Given the description of an element on the screen output the (x, y) to click on. 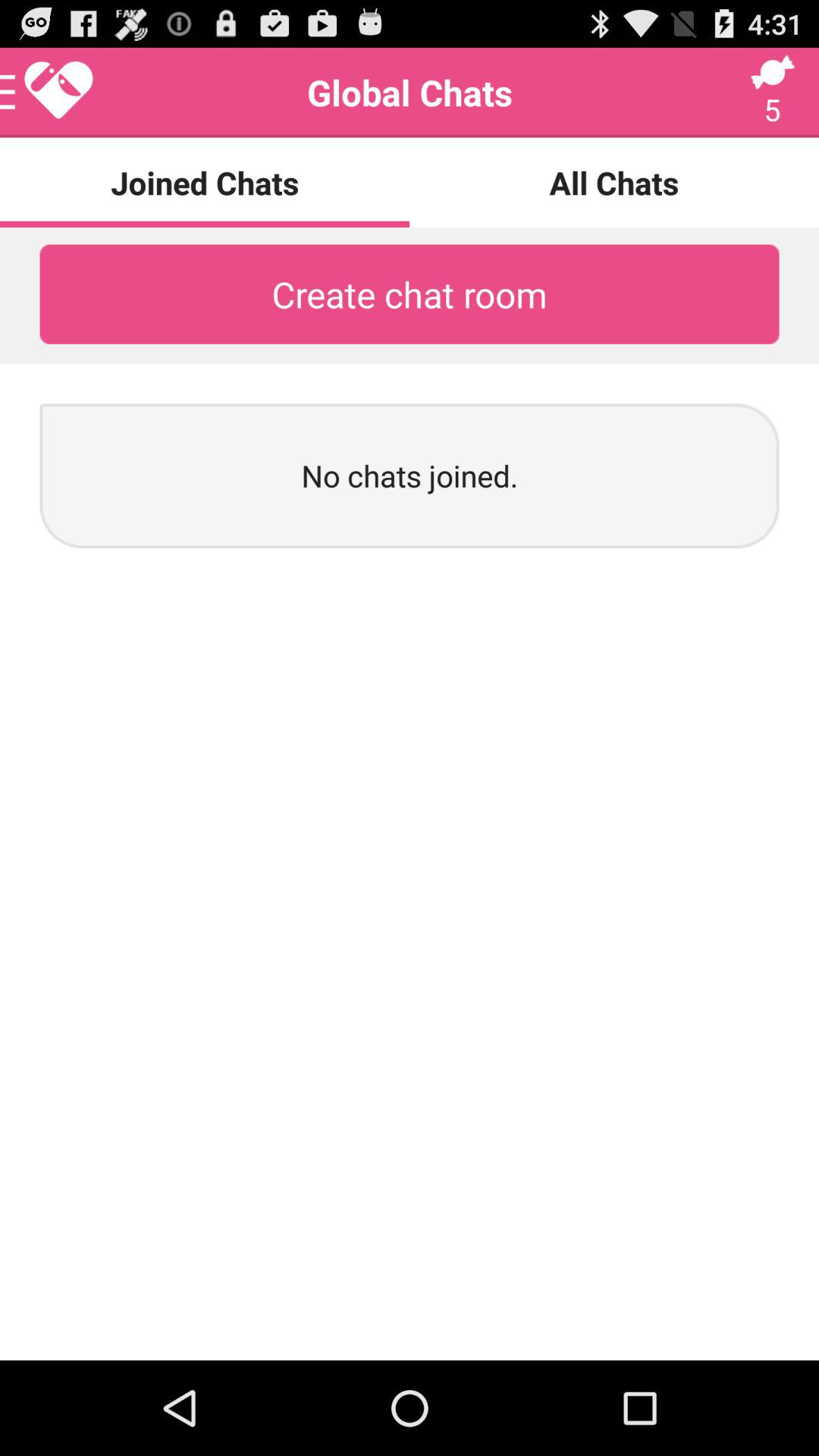
select the icon below the global chats icon (614, 182)
